Given the description of an element on the screen output the (x, y) to click on. 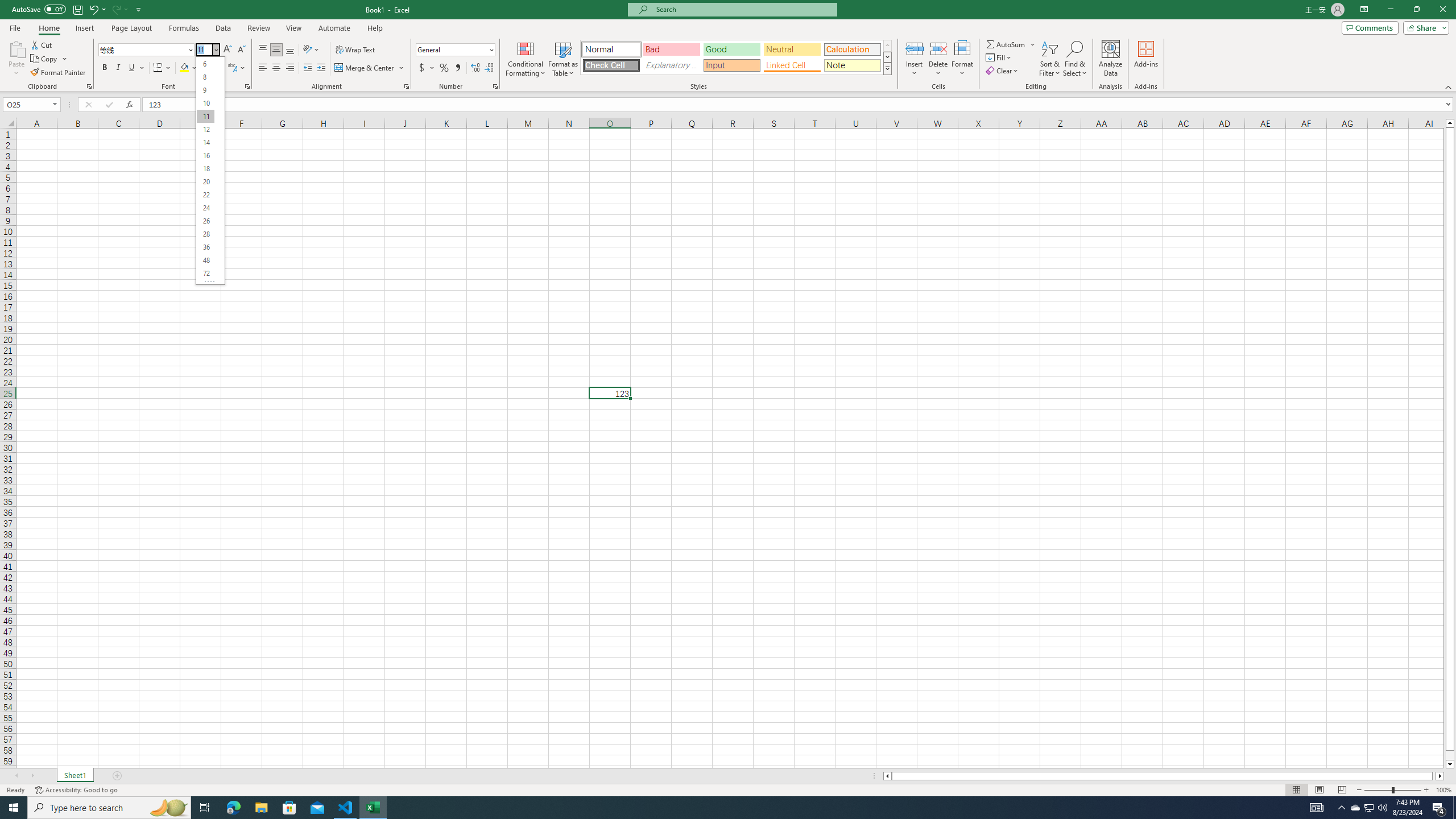
Font Size (210, 170)
Find & Select (1075, 58)
AutomationID: CellStylesGallery (736, 57)
11 (205, 115)
6 (205, 63)
Format Cell Number (494, 85)
Accounting Number Format (426, 67)
Delete Cells... (938, 48)
Format Cell Alignment (405, 85)
Insert Cells (914, 48)
